Given the description of an element on the screen output the (x, y) to click on. 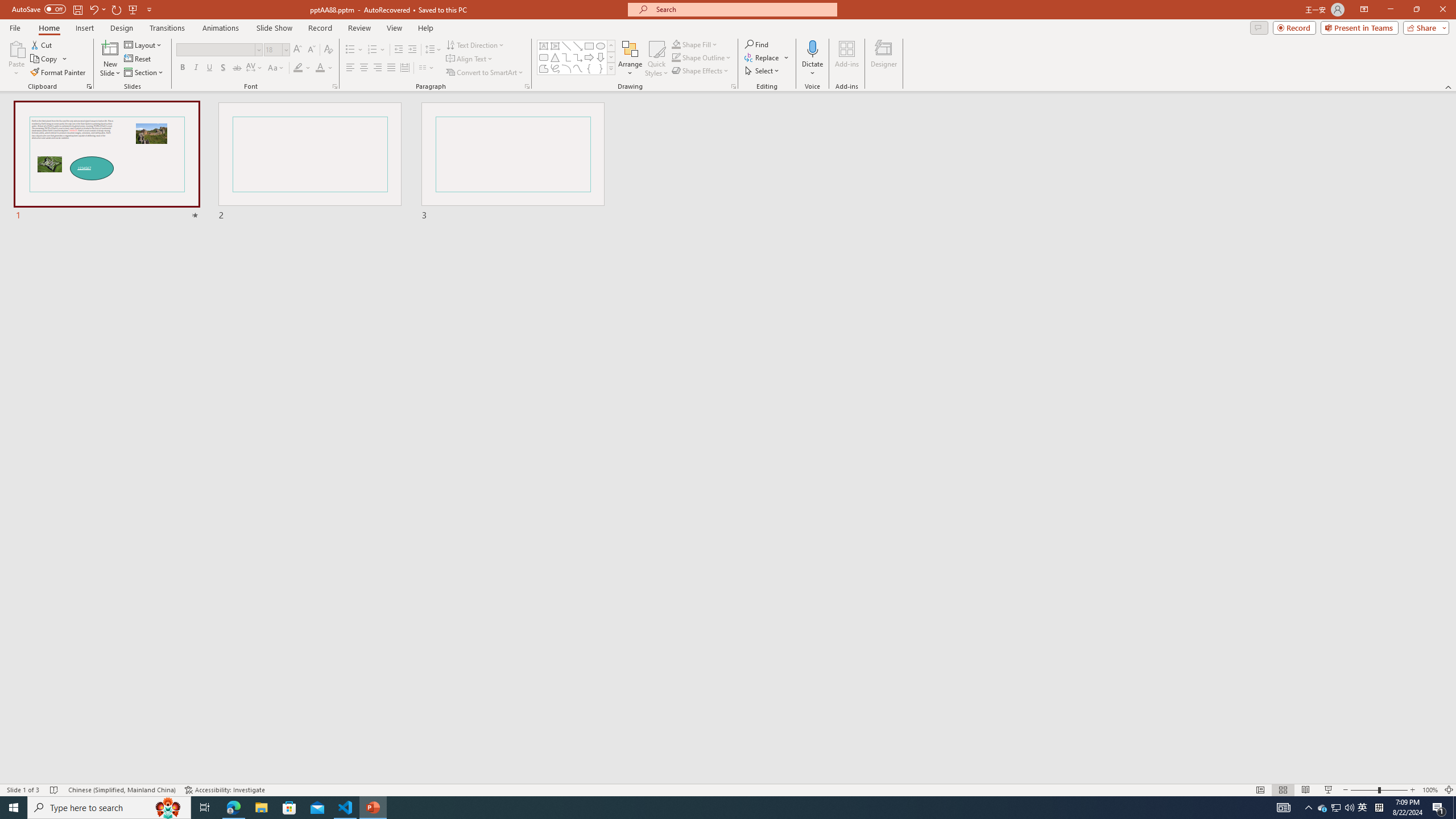
Shape Fill Aqua, Accent 2 (675, 44)
